Given the description of an element on the screen output the (x, y) to click on. 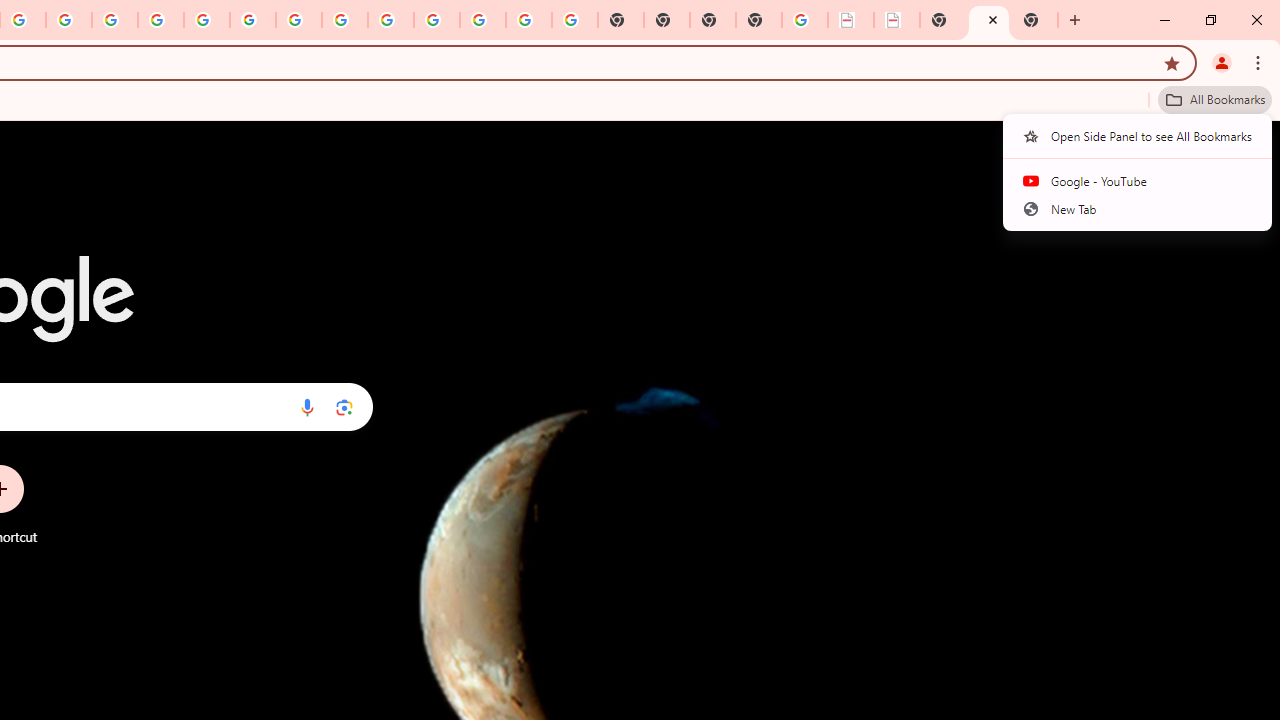
Google - YouTube (1137, 181)
New Tab (1035, 20)
Open Side Panel to see All Bookmarks (1137, 135)
Google Images (574, 20)
Privacy Help Center - Policies Help (161, 20)
Search for Images  (1188, 152)
Search by image (344, 407)
